Given the description of an element on the screen output the (x, y) to click on. 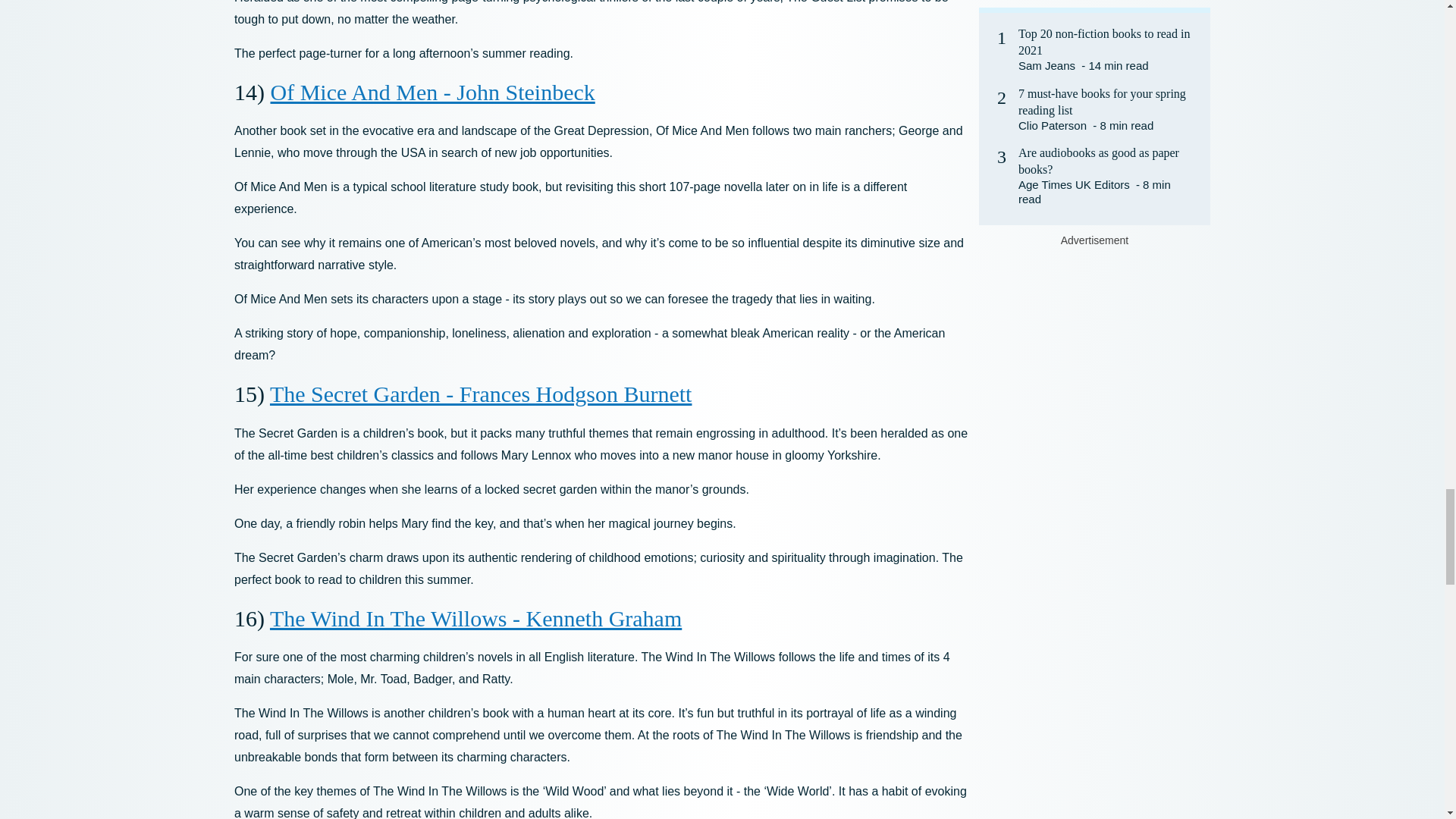
Of Mice And Men - John Steinbeck (431, 91)
The Secret Garden - Frances Hodgson Burnett (481, 393)
The Wind In The Willows - Kenneth Graham (475, 618)
